Given the description of an element on the screen output the (x, y) to click on. 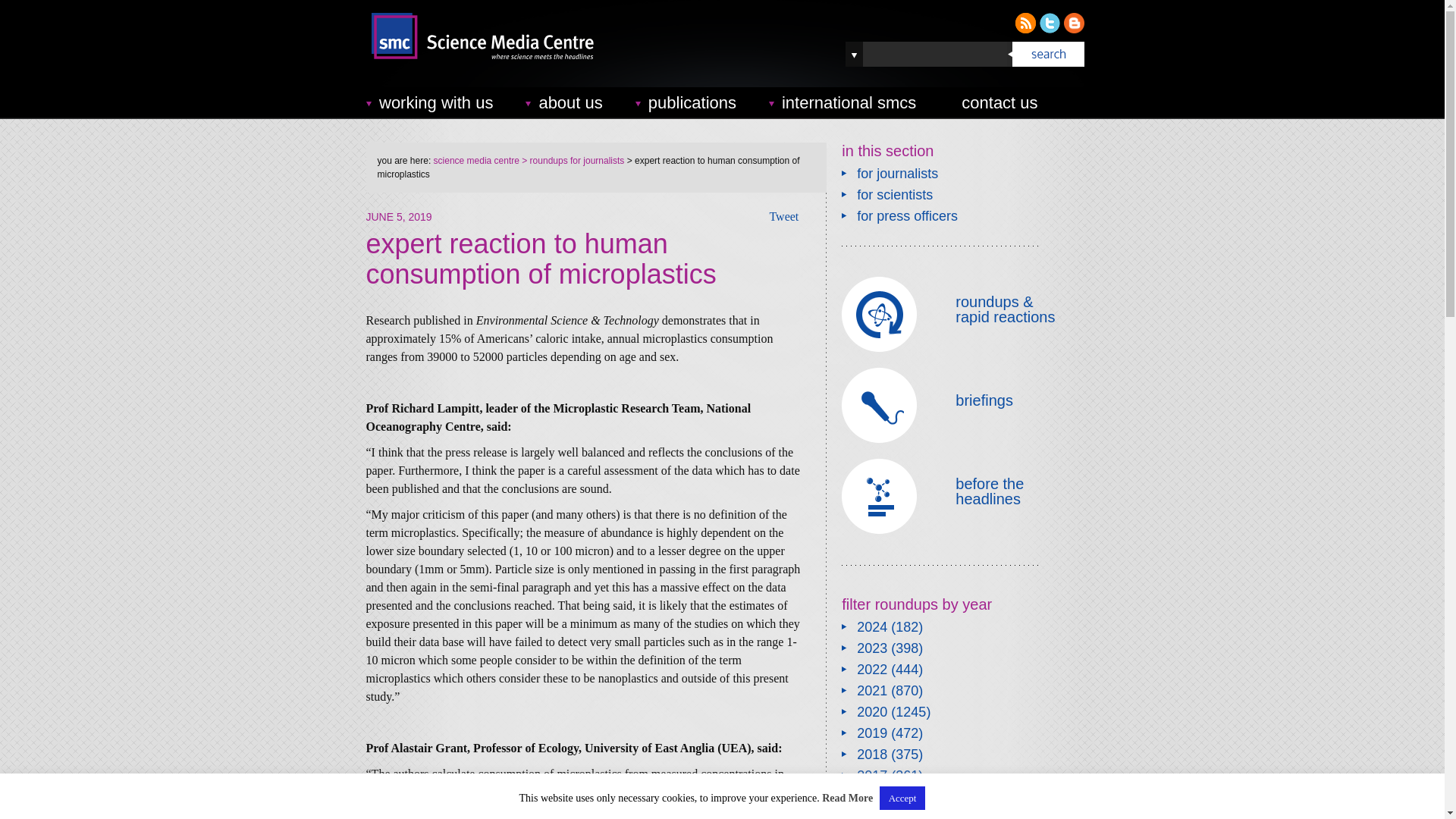
international smcs (849, 102)
publications (692, 102)
working with us (436, 102)
about us (569, 102)
contact us (999, 102)
